Given the description of an element on the screen output the (x, y) to click on. 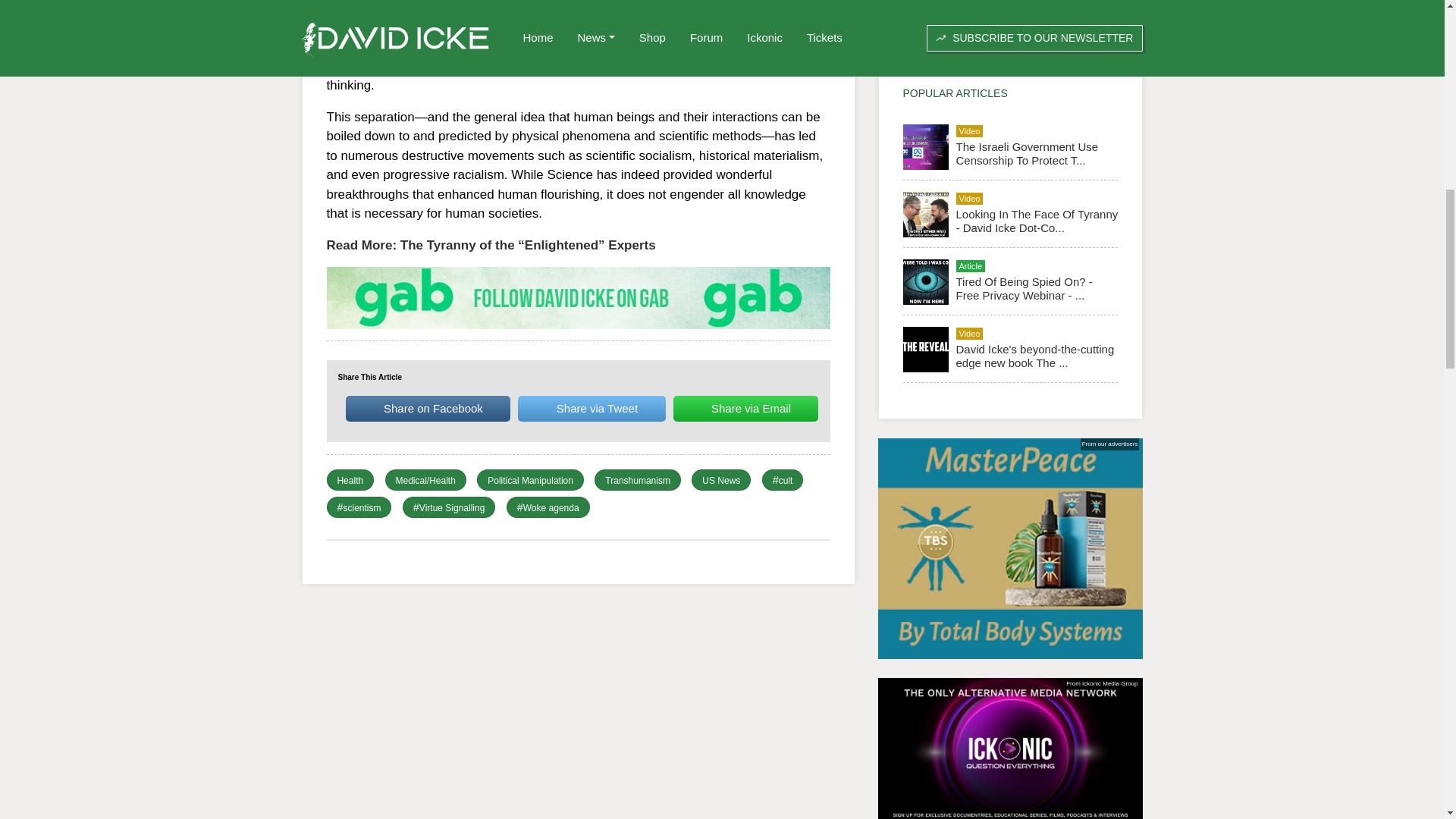
Transhumanism (637, 480)
US News (720, 480)
Share on Facebook (428, 408)
Share via Tweet (591, 408)
Health (349, 480)
Political Manipulation (530, 480)
Share via Email (745, 408)
cult (785, 480)
